Given the description of an element on the screen output the (x, y) to click on. 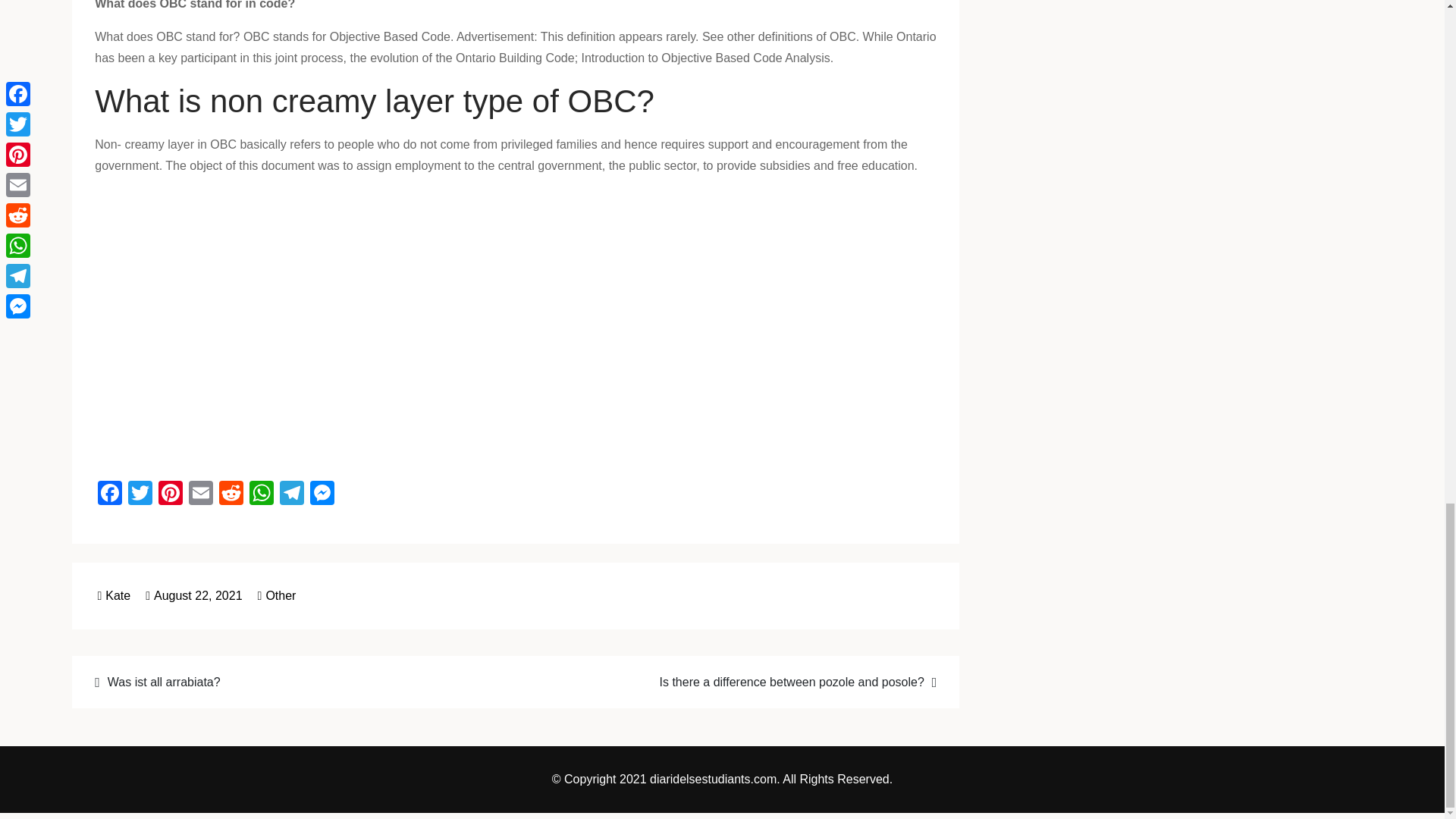
Was ist all arrabiata? (295, 681)
Email (200, 494)
WhatsApp (261, 494)
August 22, 2021 (193, 594)
Pinterest (170, 494)
Messenger (322, 494)
Twitter (140, 494)
WhatsApp (261, 494)
Email (200, 494)
Reddit (230, 494)
Telegram (291, 494)
Other (279, 594)
Kate (114, 594)
Messenger (322, 494)
Facebook (109, 494)
